Given the description of an element on the screen output the (x, y) to click on. 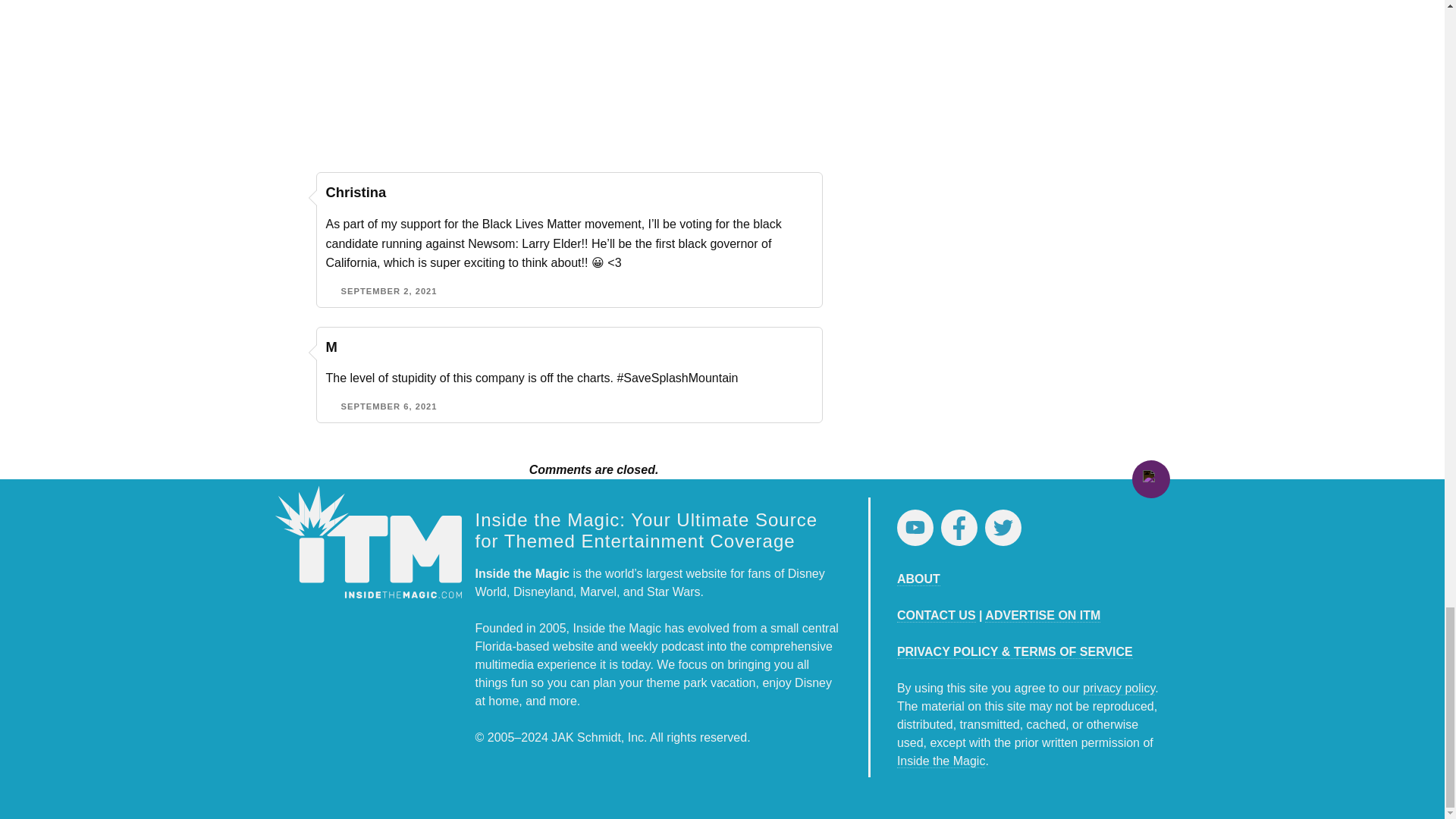
Return to Top (1150, 478)
September 2, 2021 at 3:01 pm (389, 290)
September 6, 2021 at 11:23 pm (389, 406)
